Given the description of an element on the screen output the (x, y) to click on. 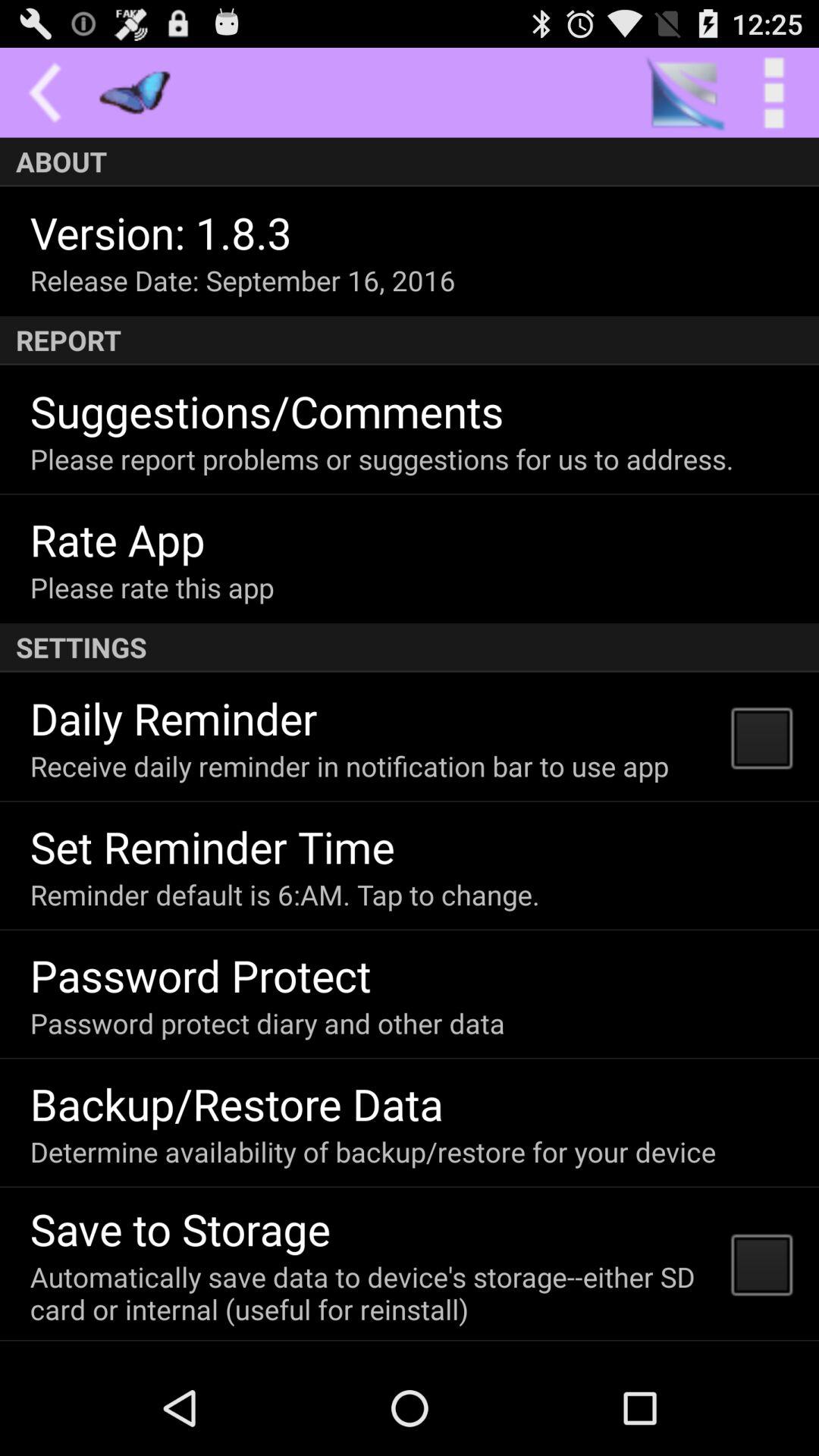
launch the app above the password protect app (284, 894)
